Given the description of an element on the screen output the (x, y) to click on. 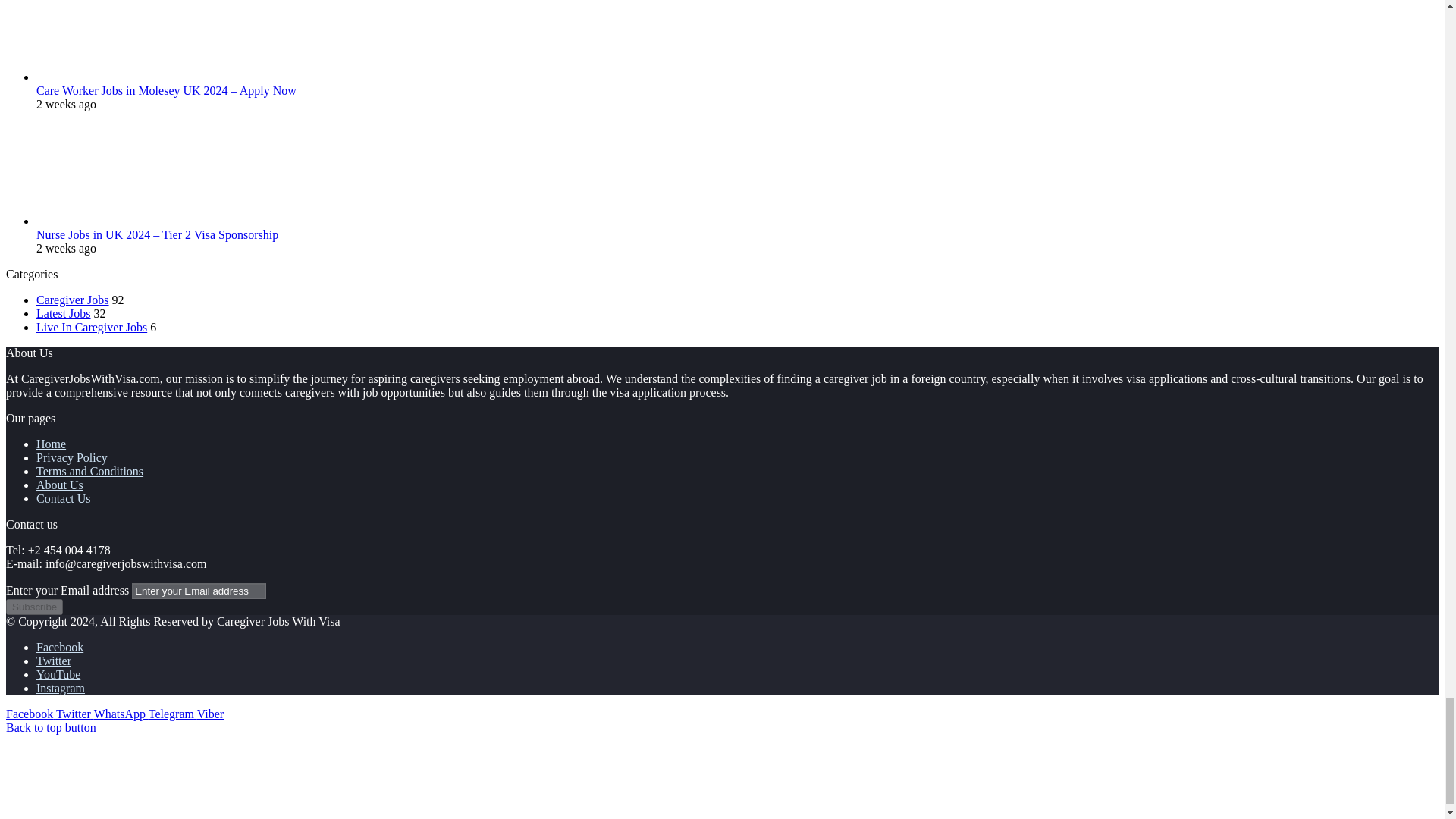
Subscribe (33, 606)
